Given the description of an element on the screen output the (x, y) to click on. 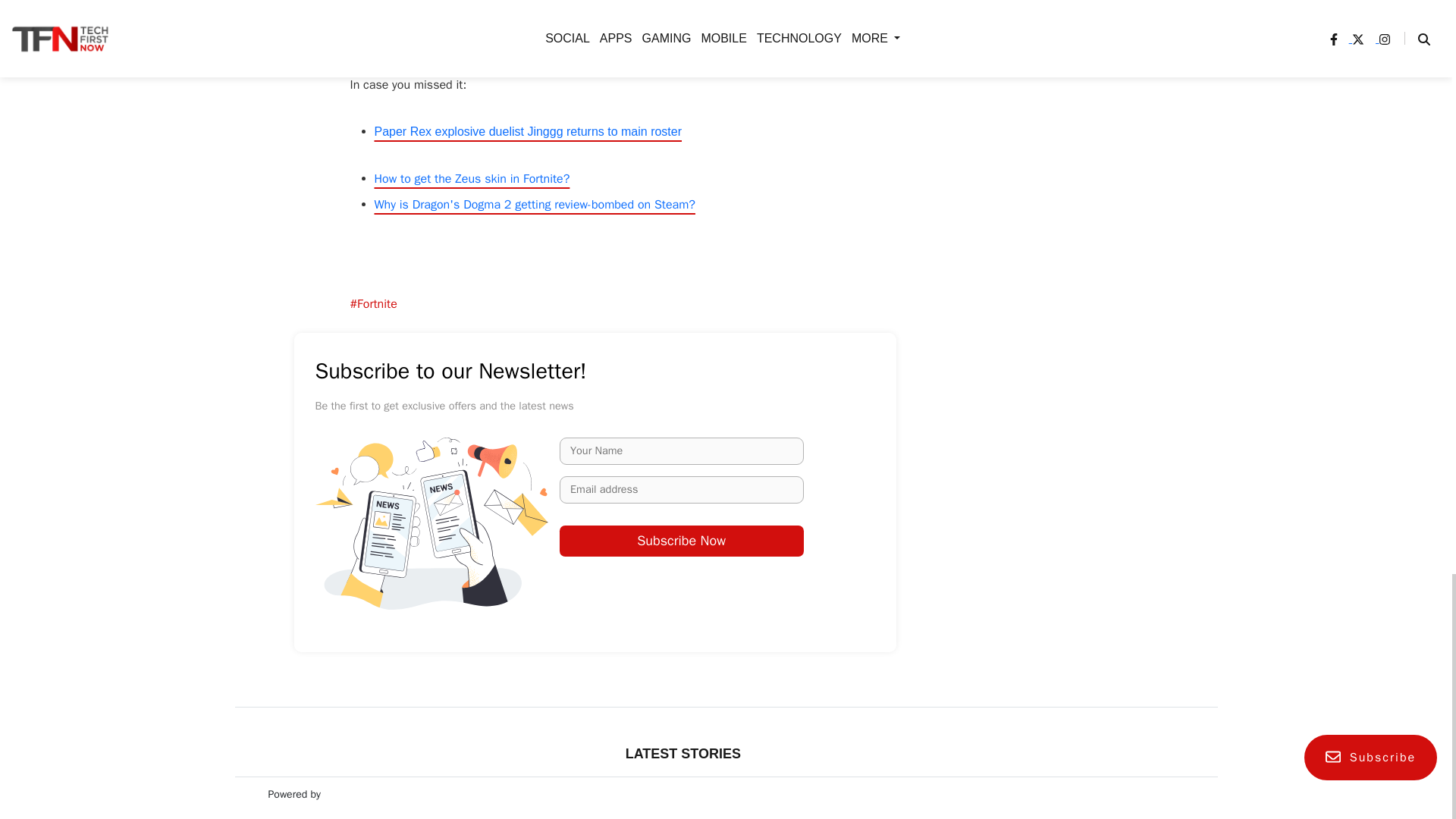
Paper Rex explosive duelist Jinggg returns to main roster (528, 131)
